Given the description of an element on the screen output the (x, y) to click on. 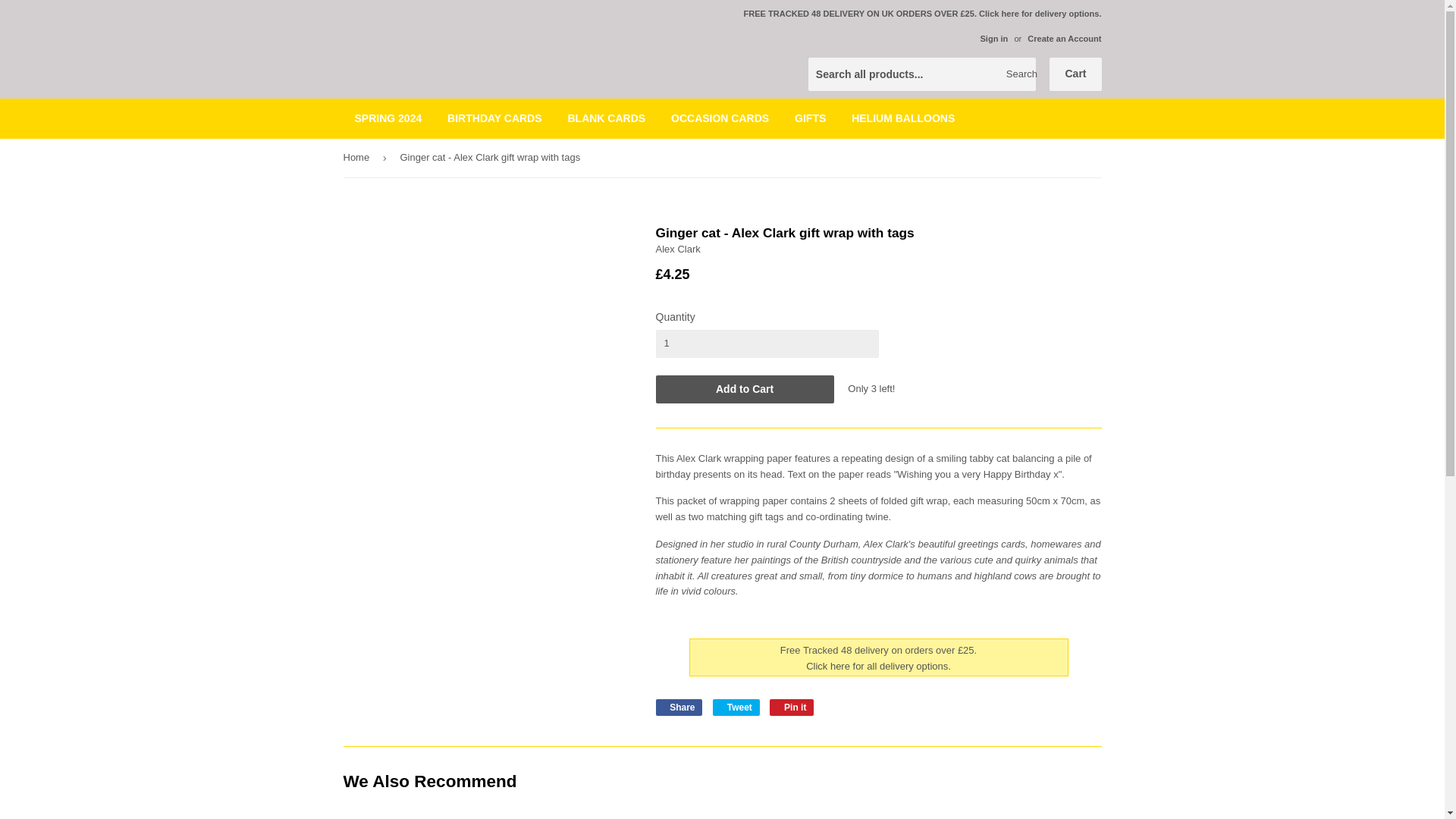
Sign in (993, 38)
1 (766, 343)
Share on Facebook (678, 707)
Search (1018, 74)
Tweet on Twitter (736, 707)
Cart (1074, 73)
Create an Account (1063, 38)
Pin on Pinterest (791, 707)
